Given the description of an element on the screen output the (x, y) to click on. 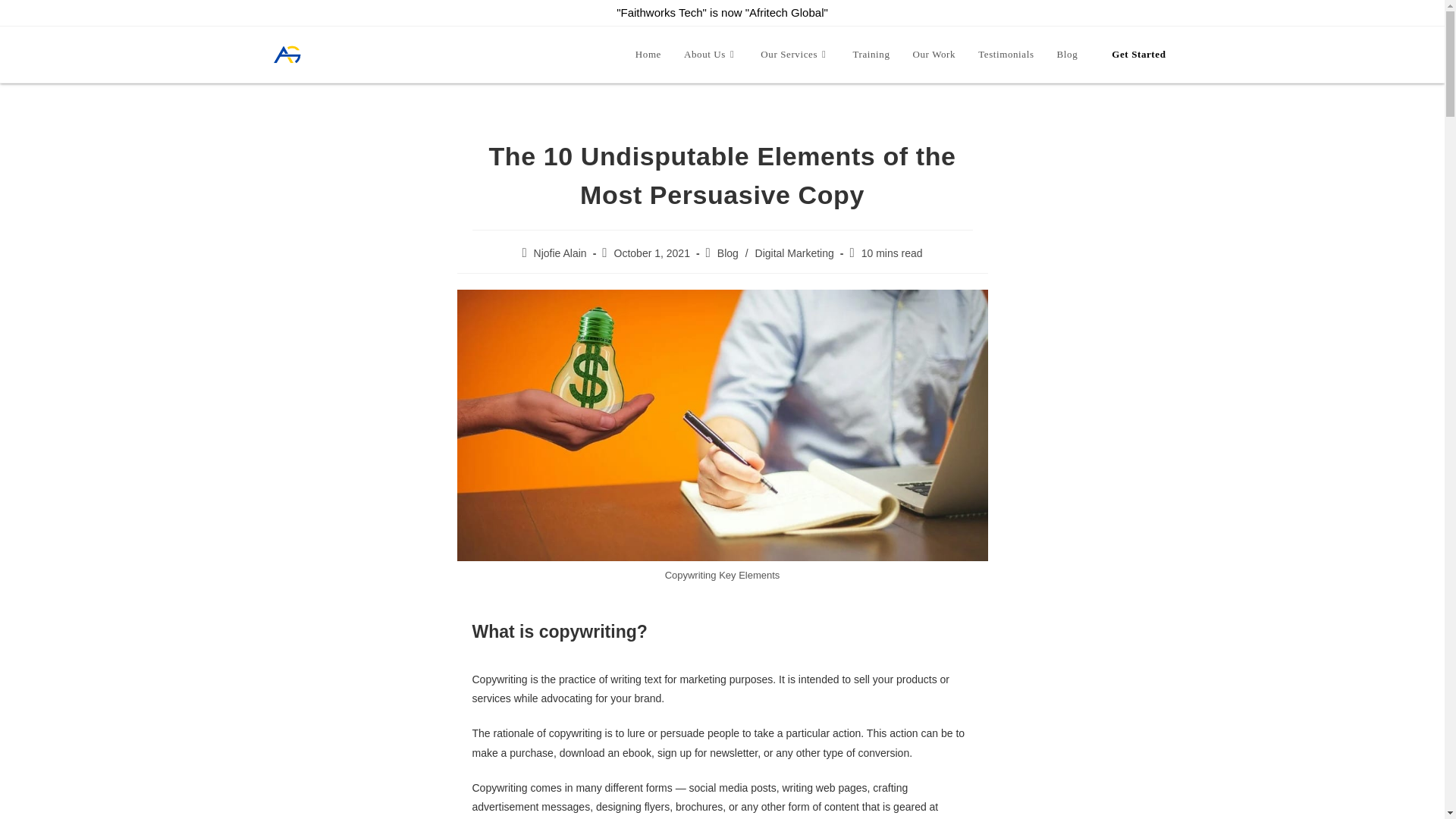
Get Started (1138, 54)
Training (871, 54)
Digital Marketing (794, 253)
Testimonials (1005, 54)
Our Work (934, 54)
Njofie Alain (560, 253)
Blog (727, 253)
Our Services (795, 54)
About Us (710, 54)
Posts by Njofie Alain (560, 253)
